Given the description of an element on the screen output the (x, y) to click on. 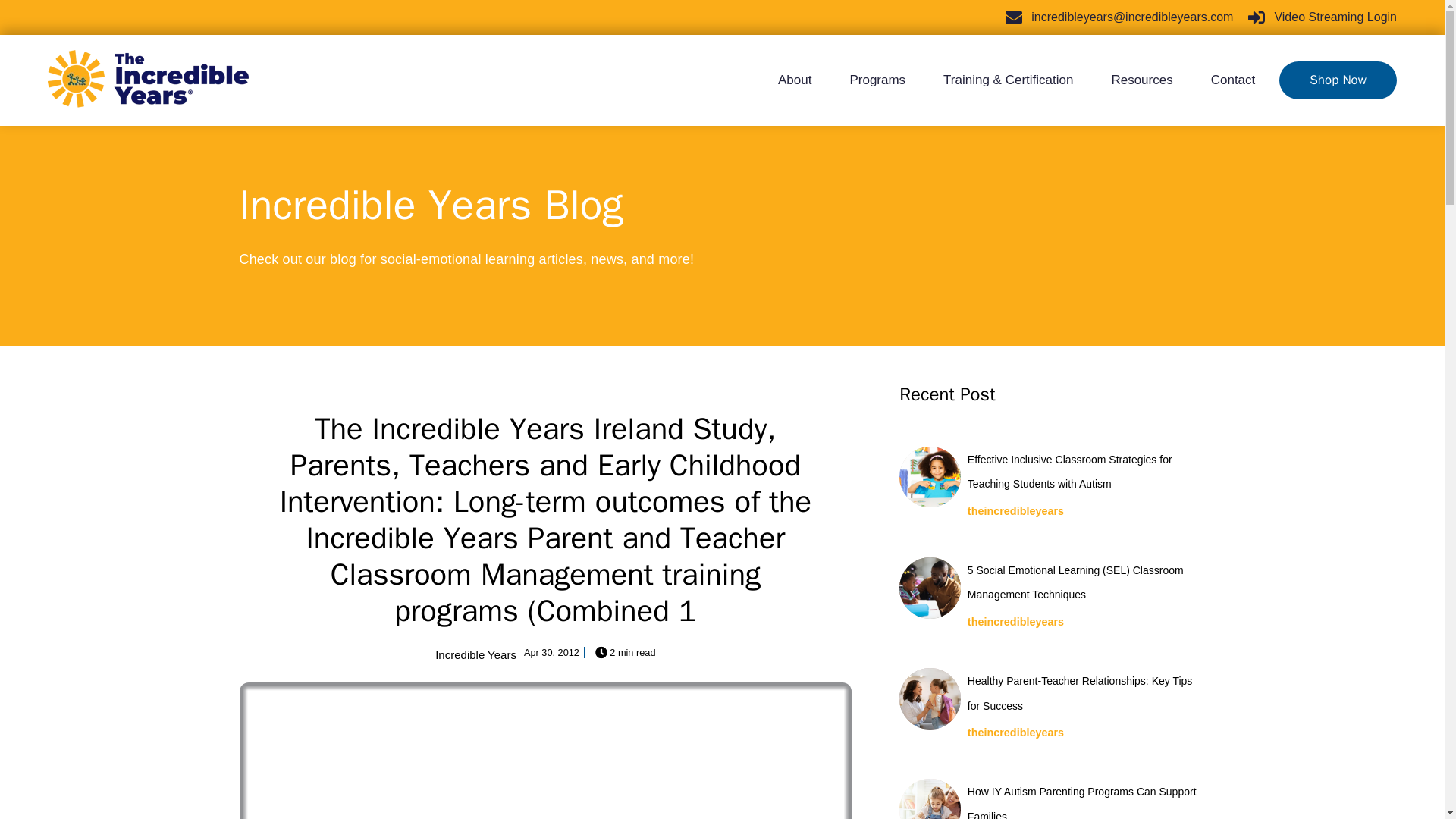
Contact (1223, 80)
Programs (876, 80)
